Given the description of an element on the screen output the (x, y) to click on. 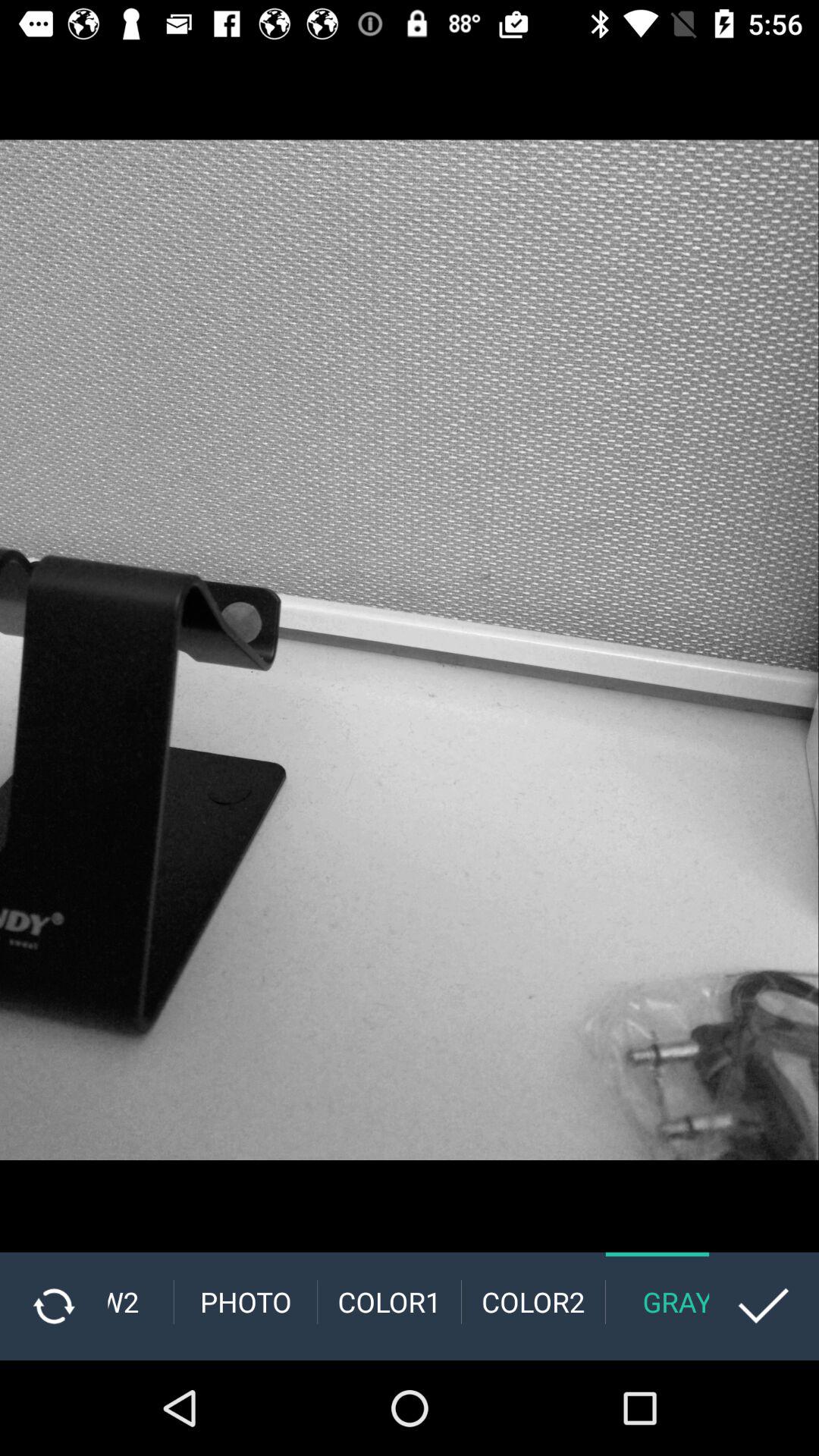
swipe until the b&w2 (140, 1301)
